Given the description of an element on the screen output the (x, y) to click on. 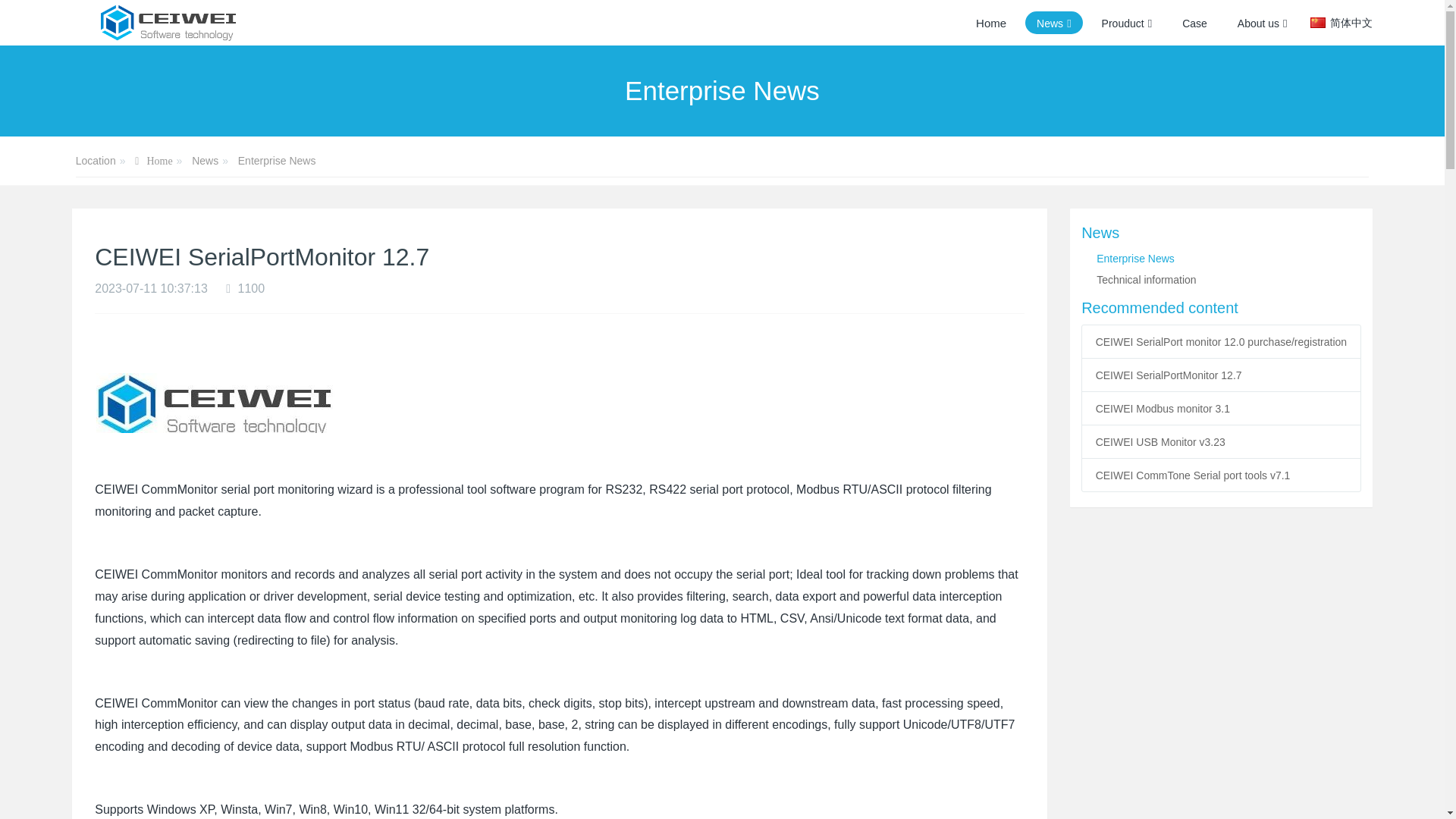
News (205, 160)
Home (990, 22)
About us (1261, 22)
Home (153, 161)
About us (1261, 22)
News (1054, 22)
Technical information (1146, 279)
Prouduct (1126, 22)
Home (153, 161)
News (205, 160)
Logo Keywords (203, 22)
News (1054, 22)
News (1221, 232)
Case (1194, 22)
Enterprise News (276, 160)
